Given the description of an element on the screen output the (x, y) to click on. 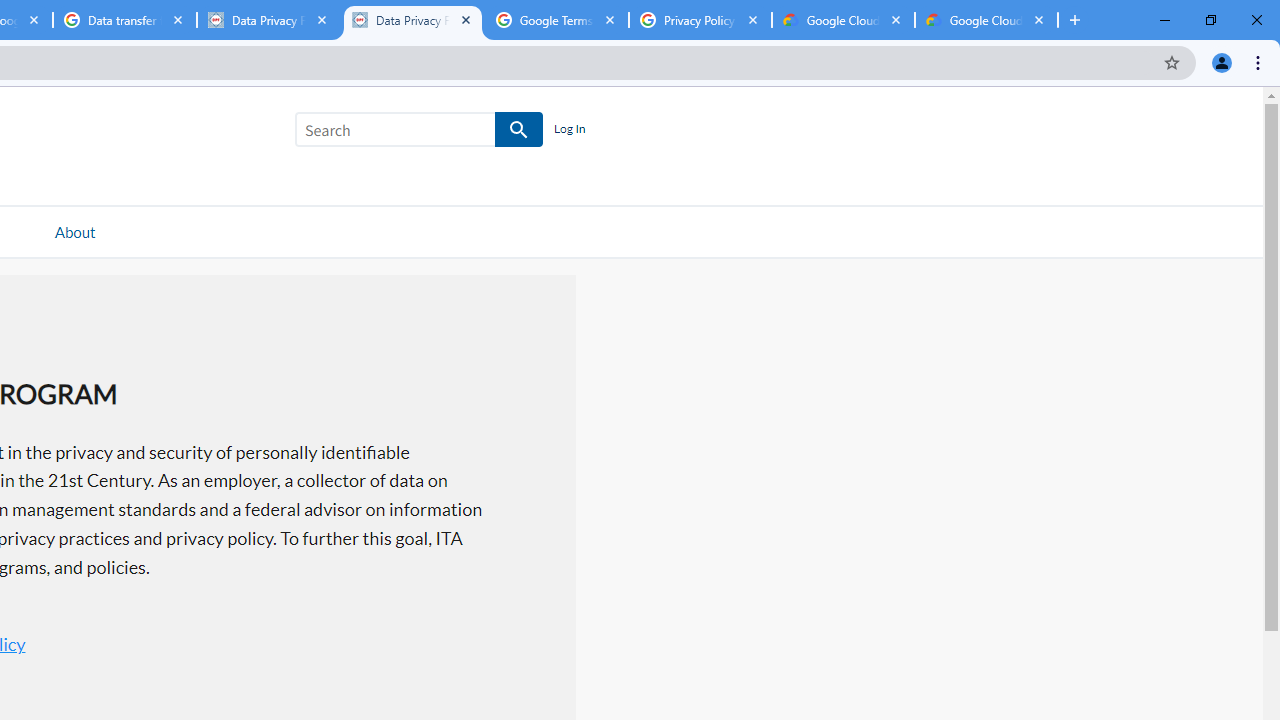
Data Privacy Framework (268, 20)
Google Cloud Privacy Notice (986, 20)
SEARCH (519, 130)
About (74, 231)
Log In (569, 129)
Search SEARCH (419, 133)
Google Cloud Privacy Notice (843, 20)
